Given the description of an element on the screen output the (x, y) to click on. 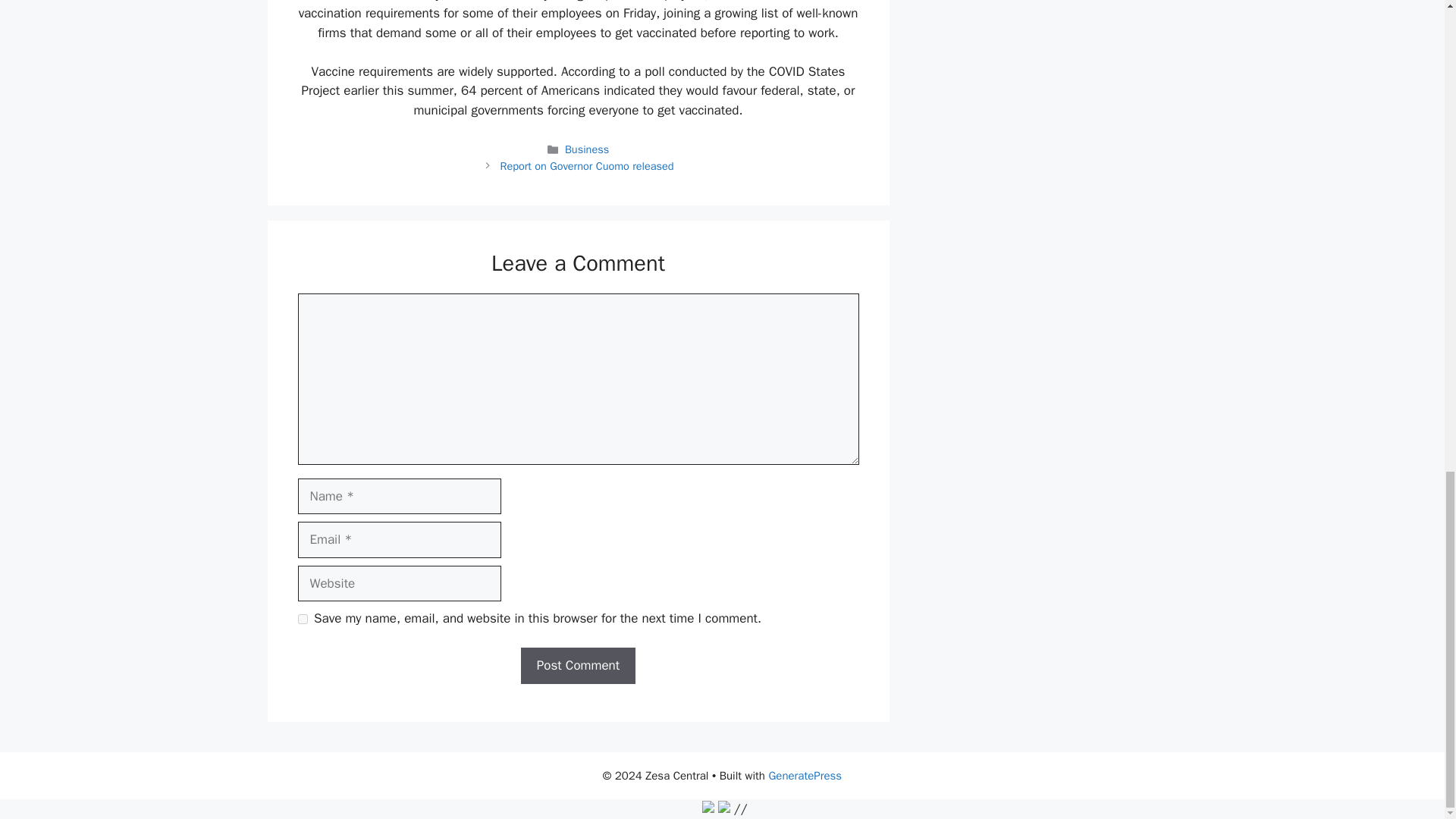
yes (302, 619)
Post Comment (577, 665)
Report on Governor Cuomo released (585, 165)
Business (586, 149)
GeneratePress (804, 775)
Post Comment (577, 665)
